Given the description of an element on the screen output the (x, y) to click on. 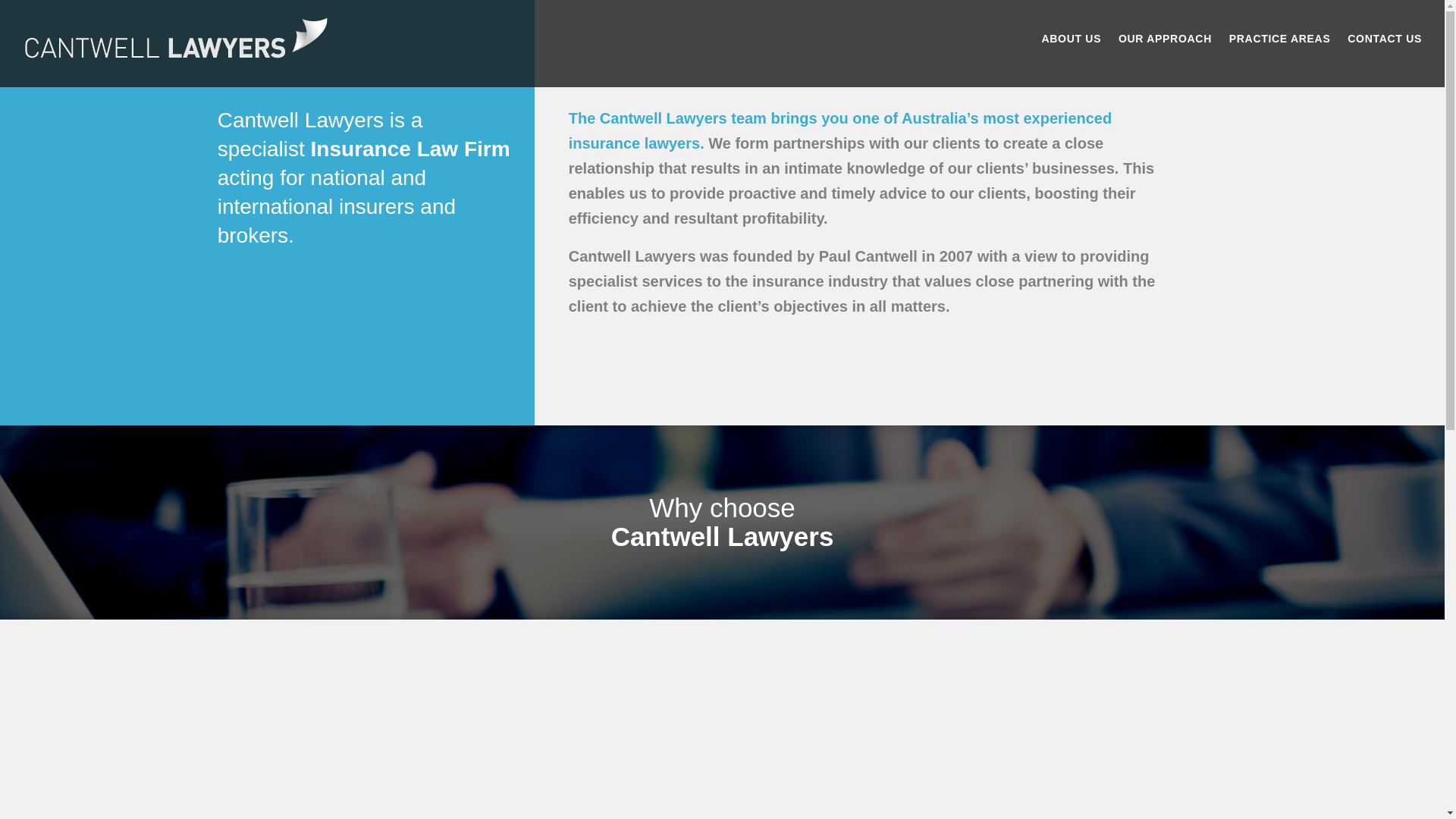
ABOUT US Element type: text (1071, 39)
PRACTICE AREAS Element type: text (1279, 39)
CONTACT US Element type: text (1384, 39)
OUR APPROACH Element type: text (1164, 39)
